Given the description of an element on the screen output the (x, y) to click on. 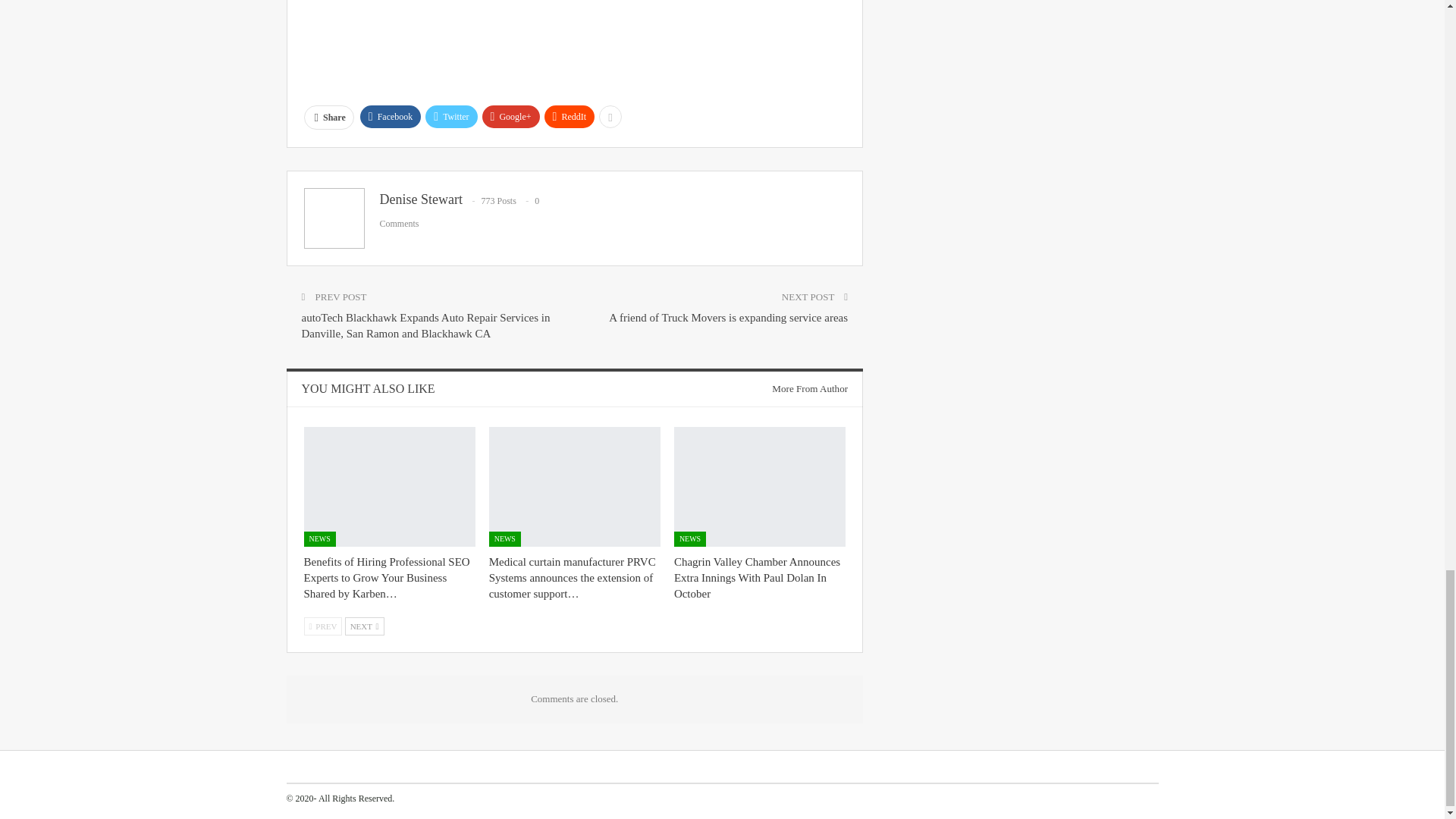
Twitter (451, 116)
ReddIt (569, 116)
Previous (322, 626)
Next (364, 626)
Facebook (390, 116)
